Given the description of an element on the screen output the (x, y) to click on. 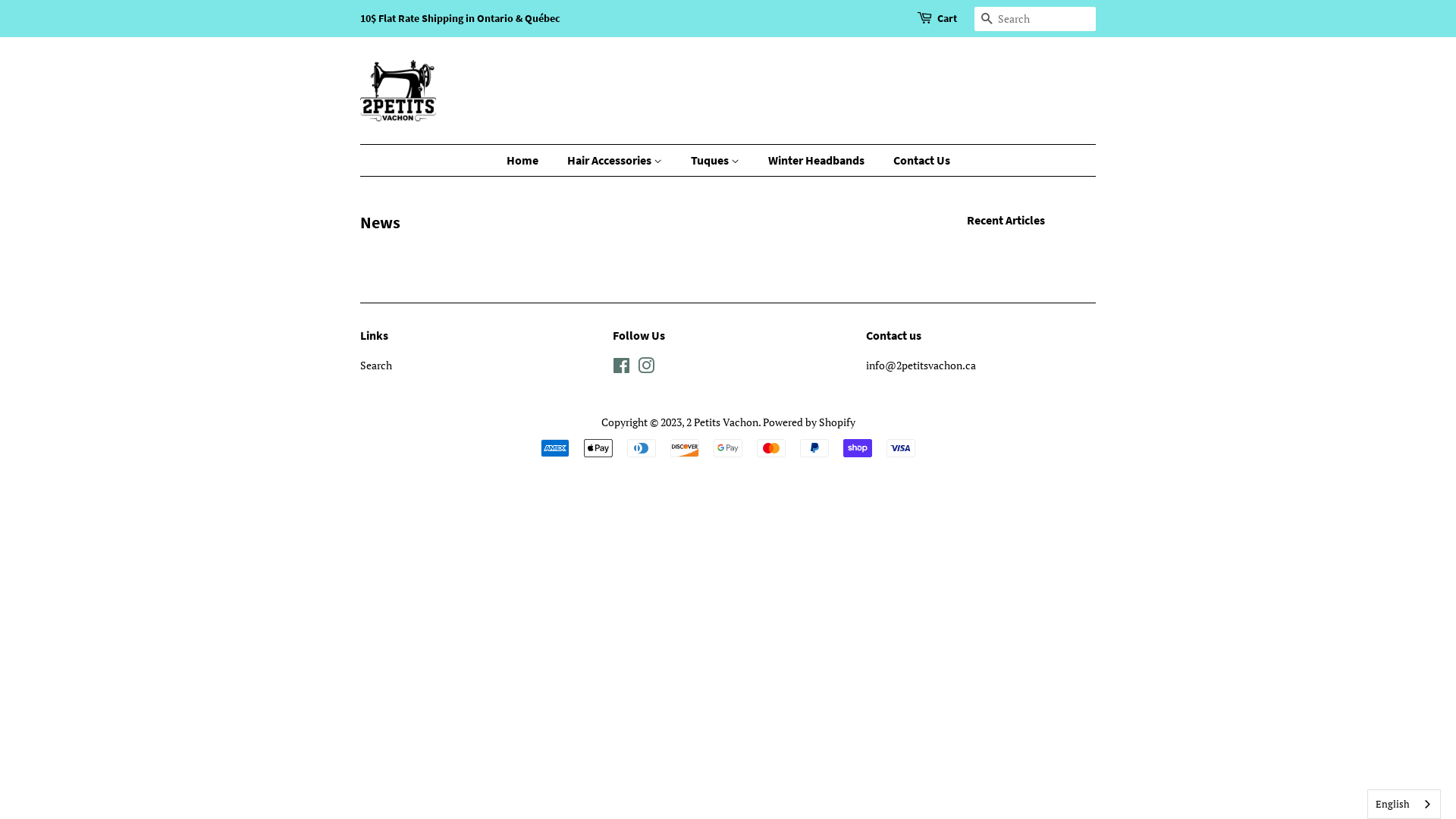
Hair Accessories Element type: text (615, 159)
2 Petits Vachon Element type: text (721, 421)
Tuques Element type: text (716, 159)
Search Element type: text (376, 364)
Instagram Element type: text (645, 367)
Contact Us Element type: text (915, 159)
Search Element type: text (986, 18)
Powered by Shopify Element type: text (808, 421)
Home Element type: text (529, 159)
Facebook Element type: text (621, 367)
Winter Headbands Element type: text (817, 159)
English Element type: text (1404, 804)
Cart Element type: text (947, 18)
